Given the description of an element on the screen output the (x, y) to click on. 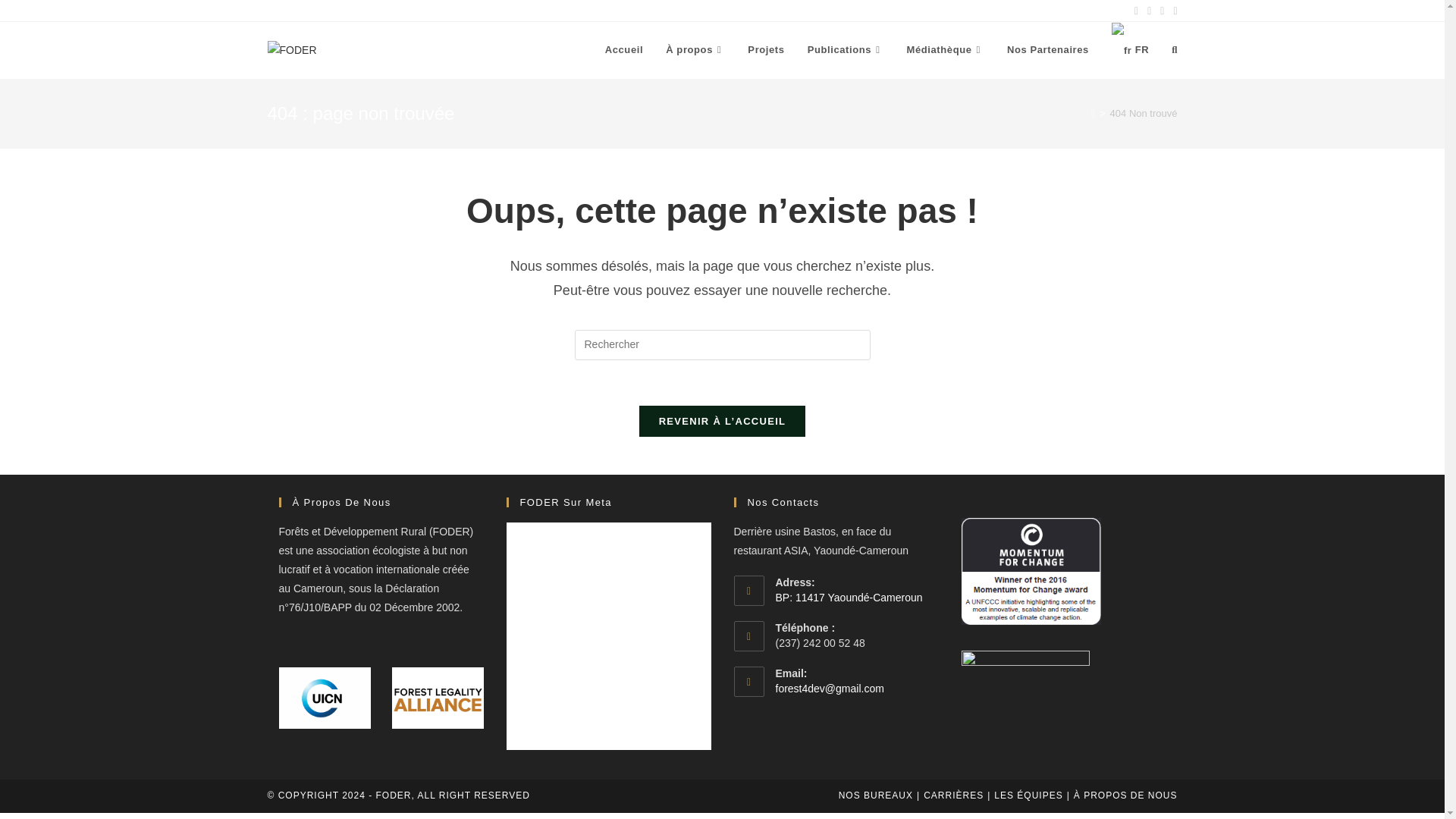
Nos Partenaires (1047, 49)
Projets (765, 49)
Accueil (623, 49)
Publications (845, 49)
Toggle website search (1174, 49)
NOS BUREAUX (875, 795)
FODER Sur Meta (565, 501)
FR (1130, 50)
